Given the description of an element on the screen output the (x, y) to click on. 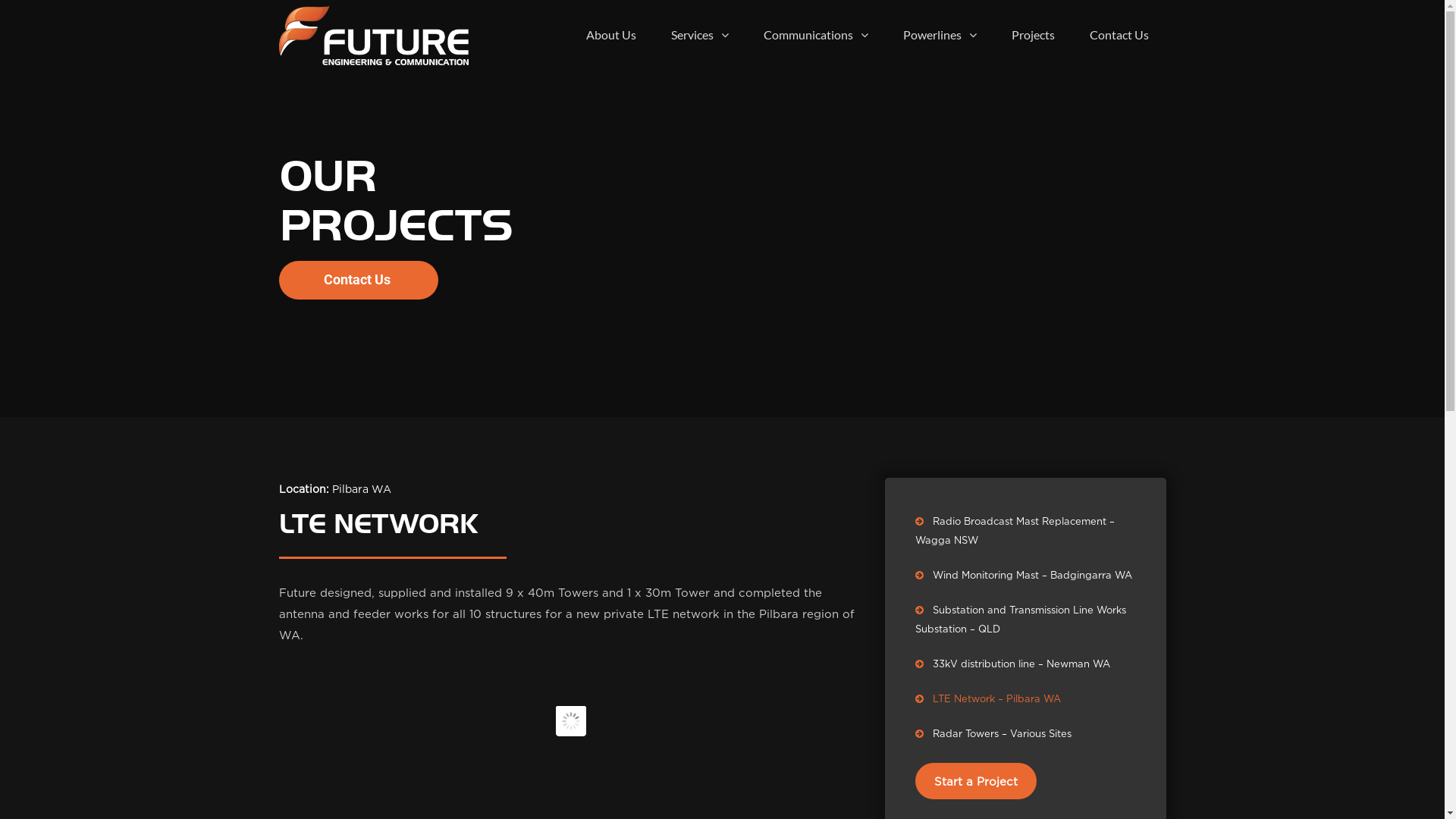
Powerlines Element type: text (939, 35)
Communications Element type: text (815, 35)
Start a Project Element type: text (975, 780)
Projects Element type: text (1032, 35)
Future Engineering & Communication Element type: hover (373, 35)
Services Element type: text (699, 35)
Contact Us Element type: text (1119, 35)
About Us Element type: text (610, 35)
